Given the description of an element on the screen output the (x, y) to click on. 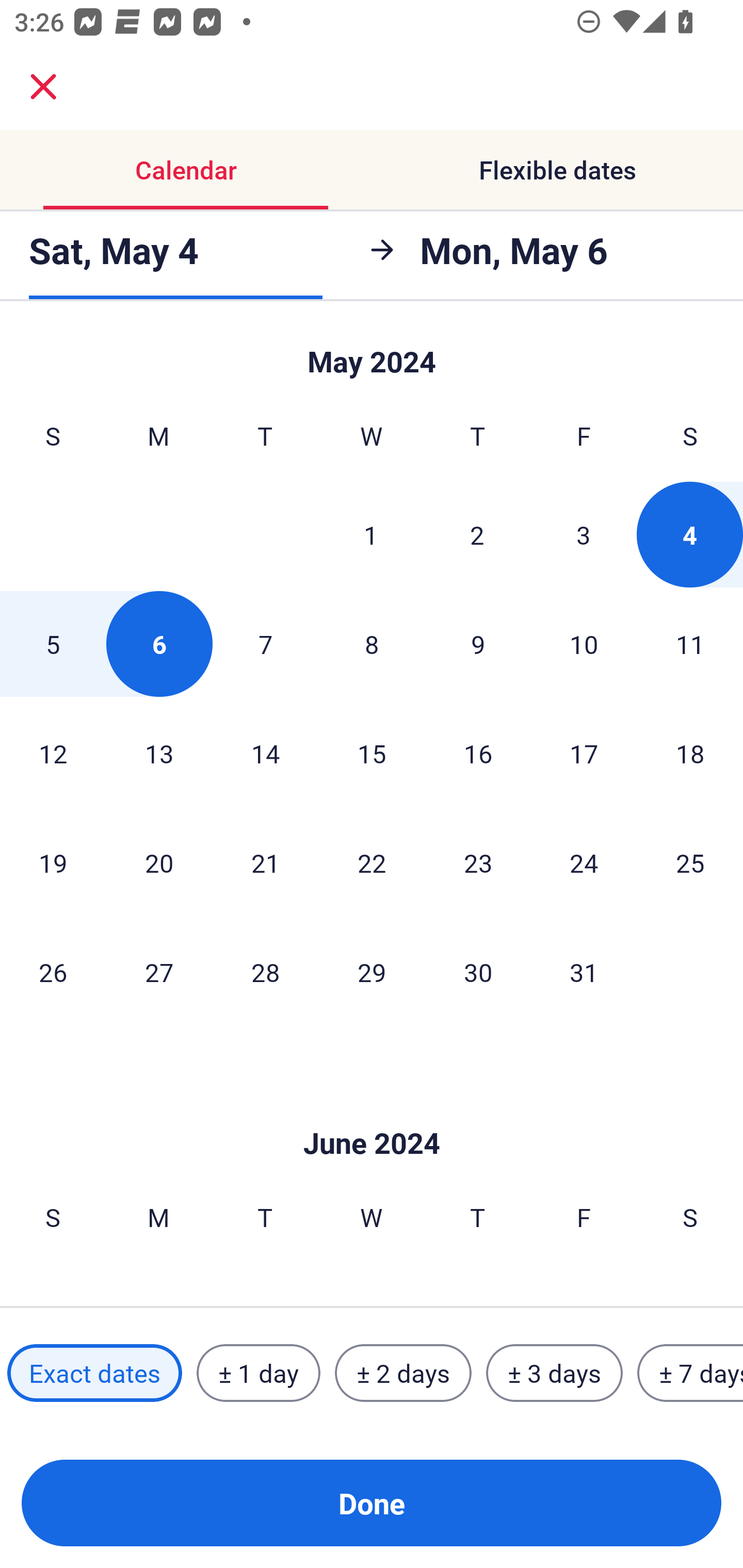
close. (43, 86)
Flexible dates (557, 170)
Skip to Done (371, 352)
1 Wednesday, May 1, 2024 (371, 534)
2 Thursday, May 2, 2024 (477, 534)
3 Friday, May 3, 2024 (583, 534)
7 Tuesday, May 7, 2024 (265, 643)
8 Wednesday, May 8, 2024 (371, 643)
9 Thursday, May 9, 2024 (477, 643)
10 Friday, May 10, 2024 (584, 643)
11 Saturday, May 11, 2024 (690, 643)
12 Sunday, May 12, 2024 (53, 752)
13 Monday, May 13, 2024 (159, 752)
14 Tuesday, May 14, 2024 (265, 752)
15 Wednesday, May 15, 2024 (371, 752)
16 Thursday, May 16, 2024 (477, 752)
17 Friday, May 17, 2024 (584, 752)
18 Saturday, May 18, 2024 (690, 752)
19 Sunday, May 19, 2024 (53, 862)
20 Monday, May 20, 2024 (159, 862)
21 Tuesday, May 21, 2024 (265, 862)
22 Wednesday, May 22, 2024 (371, 862)
23 Thursday, May 23, 2024 (477, 862)
24 Friday, May 24, 2024 (584, 862)
25 Saturday, May 25, 2024 (690, 862)
26 Sunday, May 26, 2024 (53, 971)
27 Monday, May 27, 2024 (159, 971)
28 Tuesday, May 28, 2024 (265, 971)
29 Wednesday, May 29, 2024 (371, 971)
30 Thursday, May 30, 2024 (477, 971)
31 Friday, May 31, 2024 (584, 971)
Skip to Done (371, 1112)
Exact dates (94, 1372)
± 1 day (258, 1372)
± 2 days (403, 1372)
± 3 days (553, 1372)
± 7 days (690, 1372)
Done (371, 1502)
